Given the description of an element on the screen output the (x, y) to click on. 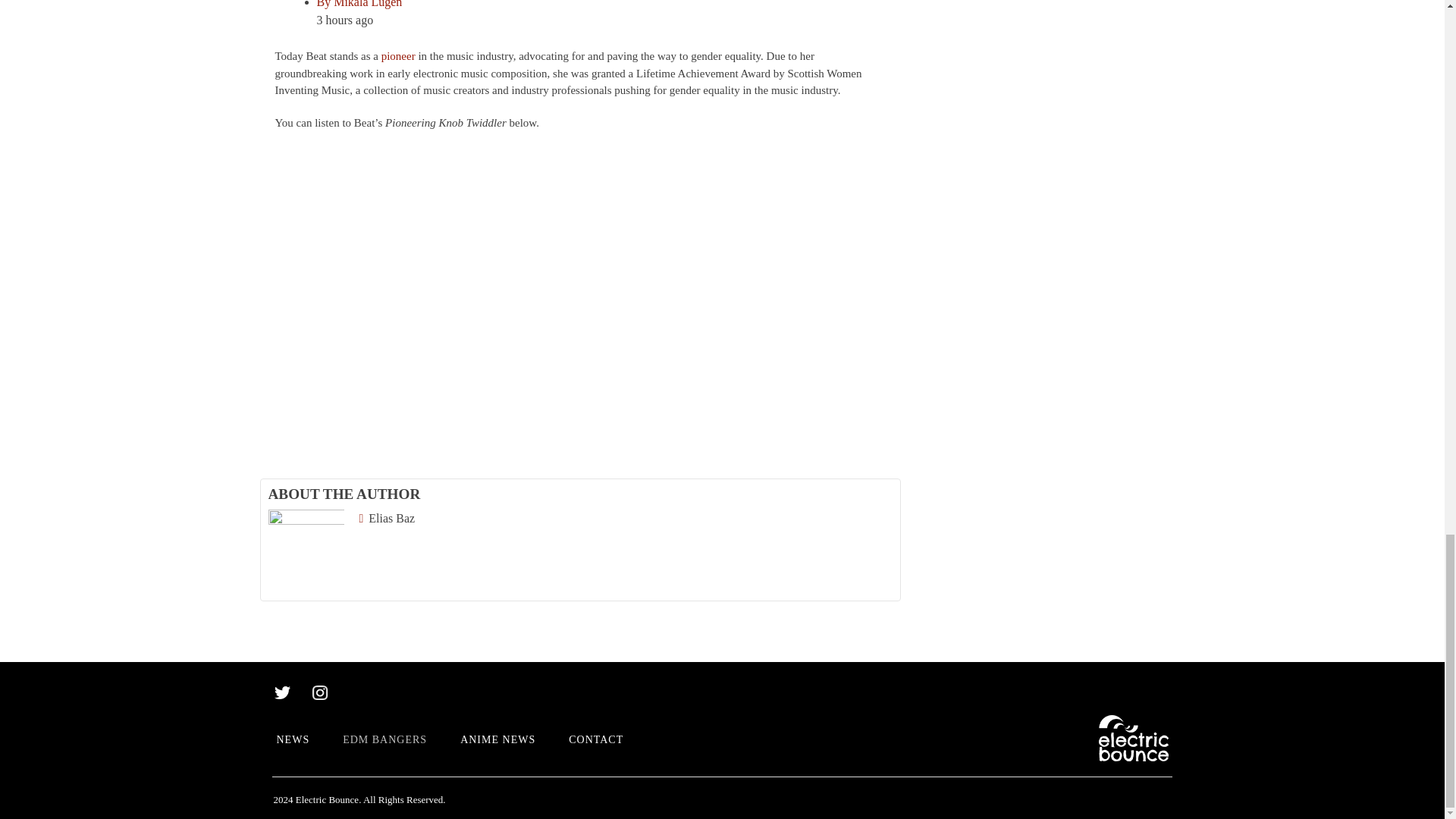
By Mikala Lugen (360, 4)
pioneer (397, 55)
Elias Baz (386, 517)
